Given the description of an element on the screen output the (x, y) to click on. 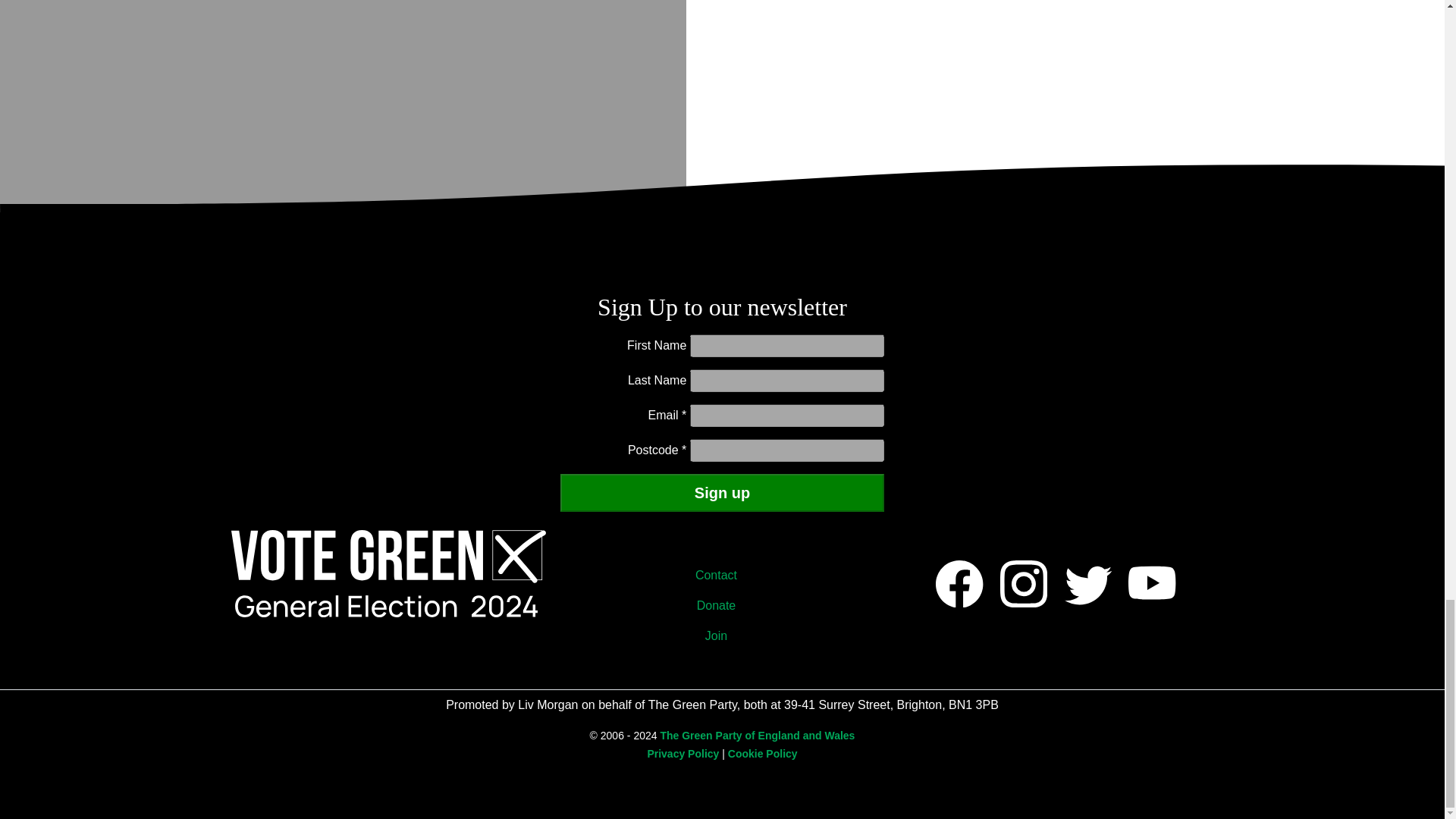
Contact (721, 575)
Join (721, 635)
Sign up (722, 492)
Sign up (722, 492)
Donate (721, 605)
